Given the description of an element on the screen output the (x, y) to click on. 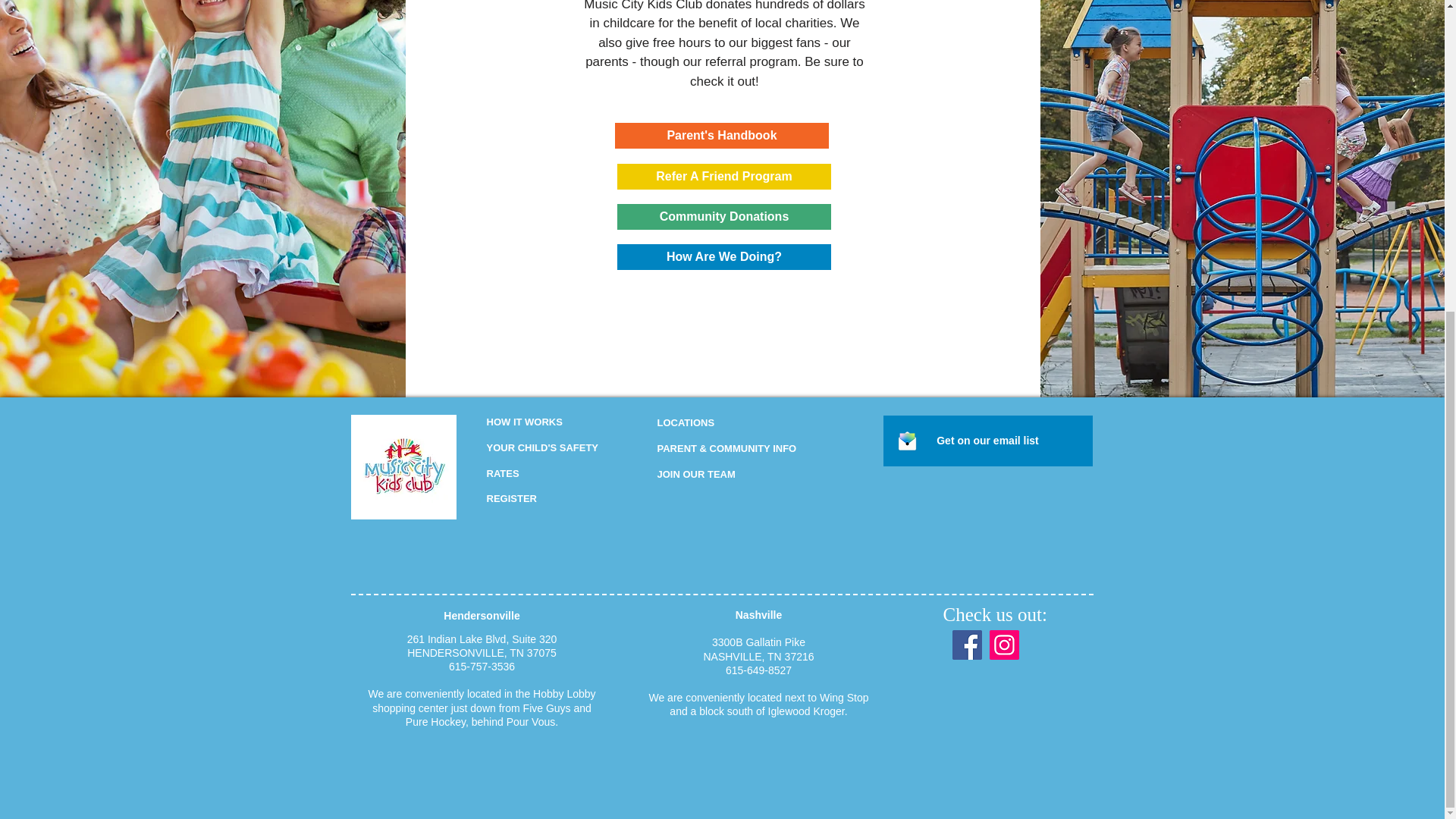
Parent's Handbook (721, 135)
615-757-3536 (481, 666)
615-649-8527 (758, 670)
LOCATIONS (685, 422)
How Are We Doing? (724, 257)
Refer A Friend Program (724, 176)
YOUR CHILD'S SAFETY (542, 447)
RATES (502, 473)
logo.jpg (402, 466)
Community Donations (724, 216)
